Given the description of an element on the screen output the (x, y) to click on. 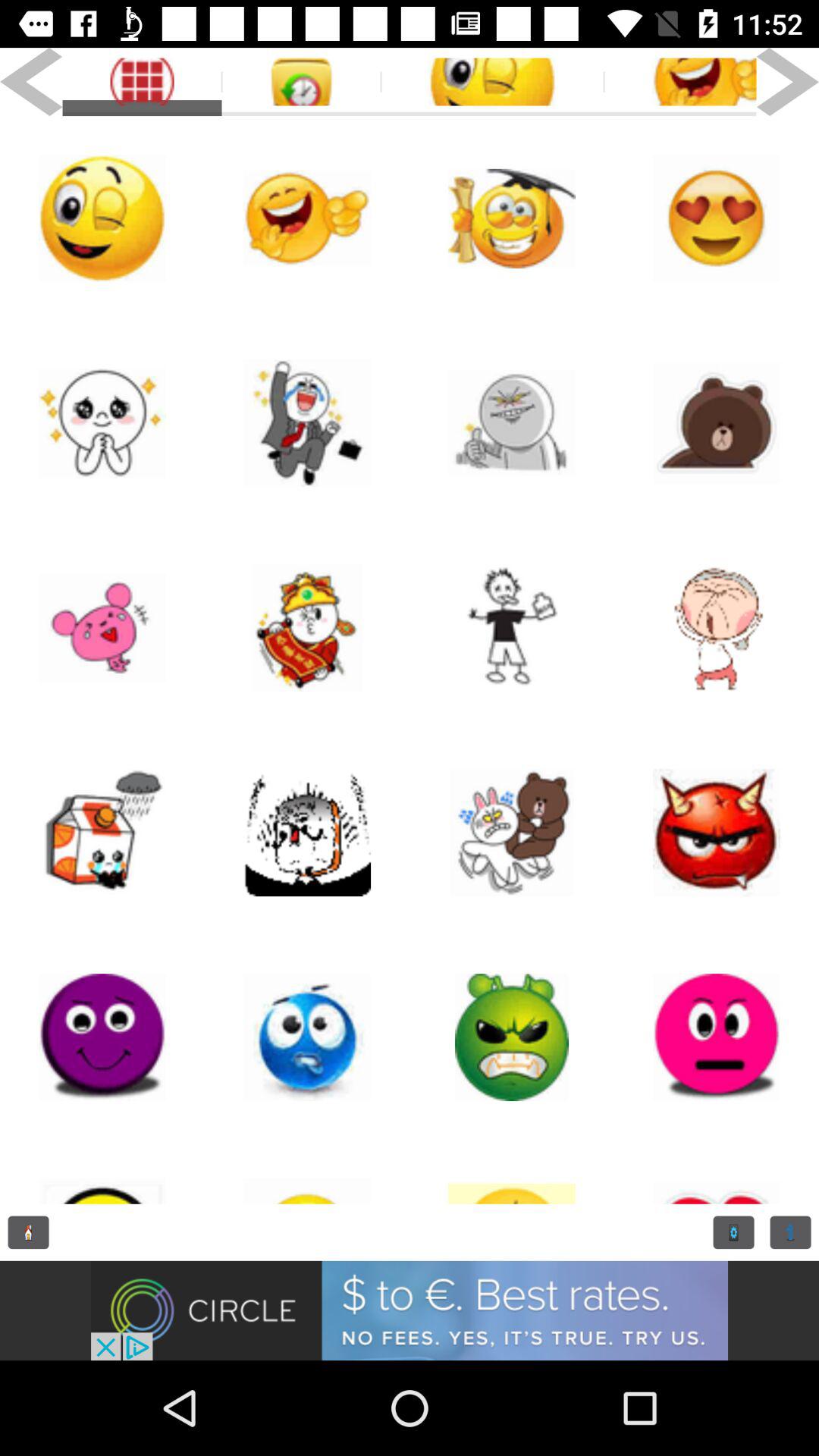
select emoji (680, 81)
